Given the description of an element on the screen output the (x, y) to click on. 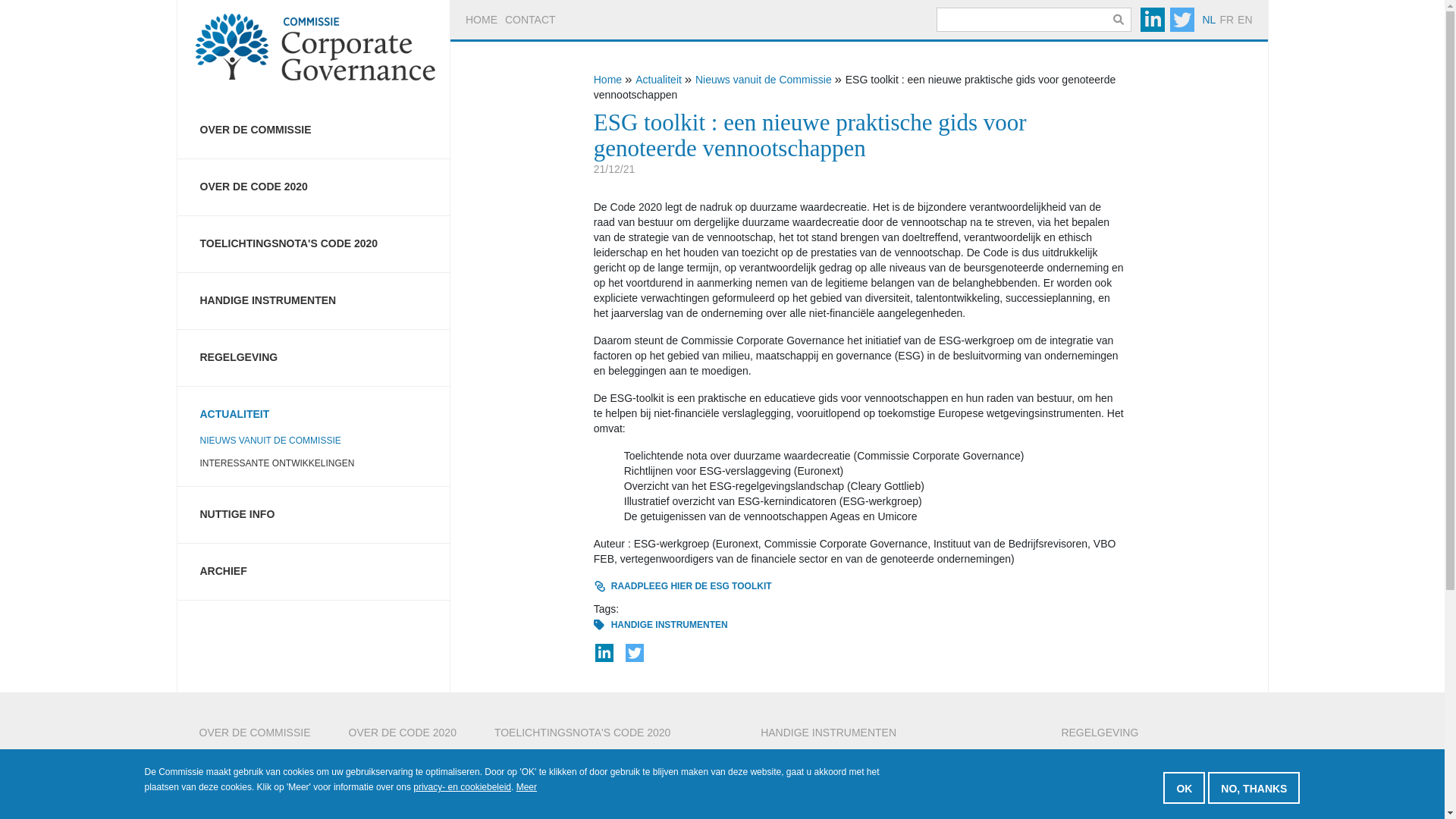
OVER DE COMMISSIE Element type: text (313, 130)
NUTTIGE INFO Element type: text (313, 514)
Onafhankelijke bestuurders Element type: text (608, 762)
Nieuws vanuit de Commissie Element type: text (763, 79)
NO, THANKS Element type: text (1253, 787)
REGELGEVING Element type: text (1121, 739)
INTERESSANTE ONTWIKKELINGEN Element type: text (313, 462)
OK Element type: text (1183, 787)
Openbaar verslag over de naleving van de Code Element type: text (608, 792)
OVER DE CODE 2020 Element type: text (313, 187)
OVER DE COMMISSIE Element type: text (254, 739)
privacy- en cookiebeleid Element type: text (462, 786)
Naleving Code 2020 Element type: text (402, 807)
TOELICHTINGSNOTA'S CODE 2020 Element type: text (313, 244)
ESG toolkit Element type: text (891, 777)
REGELGEVING Element type: text (313, 357)
Code 2020 Element type: text (402, 762)
Relationship agreement Element type: text (608, 807)
Werking Element type: text (254, 762)
HANDIGE INSTRUMENTEN Element type: text (313, 301)
Lid van ECGCN Element type: text (254, 807)
Belgische ontwerpteksten Element type: text (1121, 777)
ARCHIEF Element type: text (313, 571)
Meer Element type: text (526, 786)
EN Element type: text (1244, 19)
OVER DE CODE 2020 Element type: text (402, 739)
Belgische wetgeving Element type: text (1121, 762)
ACTUALITEIT Element type: text (313, 407)
HANDIGE INSTRUMENTEN Element type: text (669, 624)
Actualiteit Element type: text (658, 79)
CONTACT Element type: text (530, 19)
NL Element type: text (1208, 19)
Wettelijke aanduiding Element type: text (402, 777)
RAADPLEEG HIER DE ESG TOOLKIT Element type: text (855, 585)
FR Element type: text (1226, 19)
HOME Element type: text (481, 19)
Samenstelling Element type: text (254, 777)
Duurzame waardecreatie Element type: text (608, 777)
TOELICHTINGSNOTA'S CODE 2020 Element type: text (608, 739)
Europese initiatieven Element type: text (1121, 792)
Home Element type: text (607, 79)
NIEUWS VANUIT DE COMMISSIE Element type: text (313, 440)
Jaarverslagen Element type: text (254, 792)
Inwerkingtreding Element type: text (402, 792)
HANDIGE INSTRUMENTEN Element type: text (891, 739)
